Given the description of an element on the screen output the (x, y) to click on. 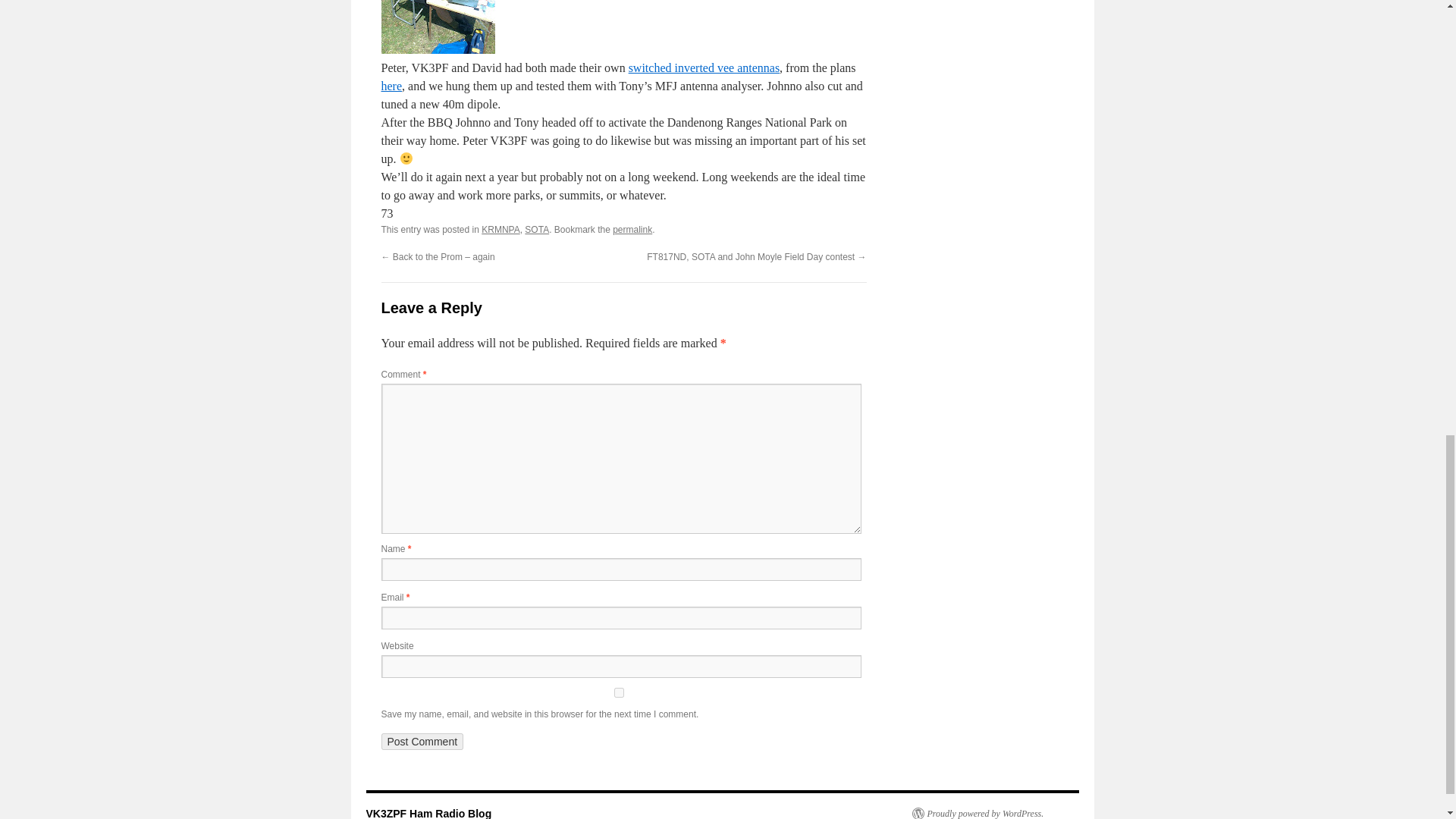
switched inverted vee antennas (703, 67)
Post Comment (421, 741)
permalink (632, 229)
Post Comment (421, 741)
here (390, 85)
KRMNPA (500, 229)
SOTA (536, 229)
yes (618, 692)
